Given the description of an element on the screen output the (x, y) to click on. 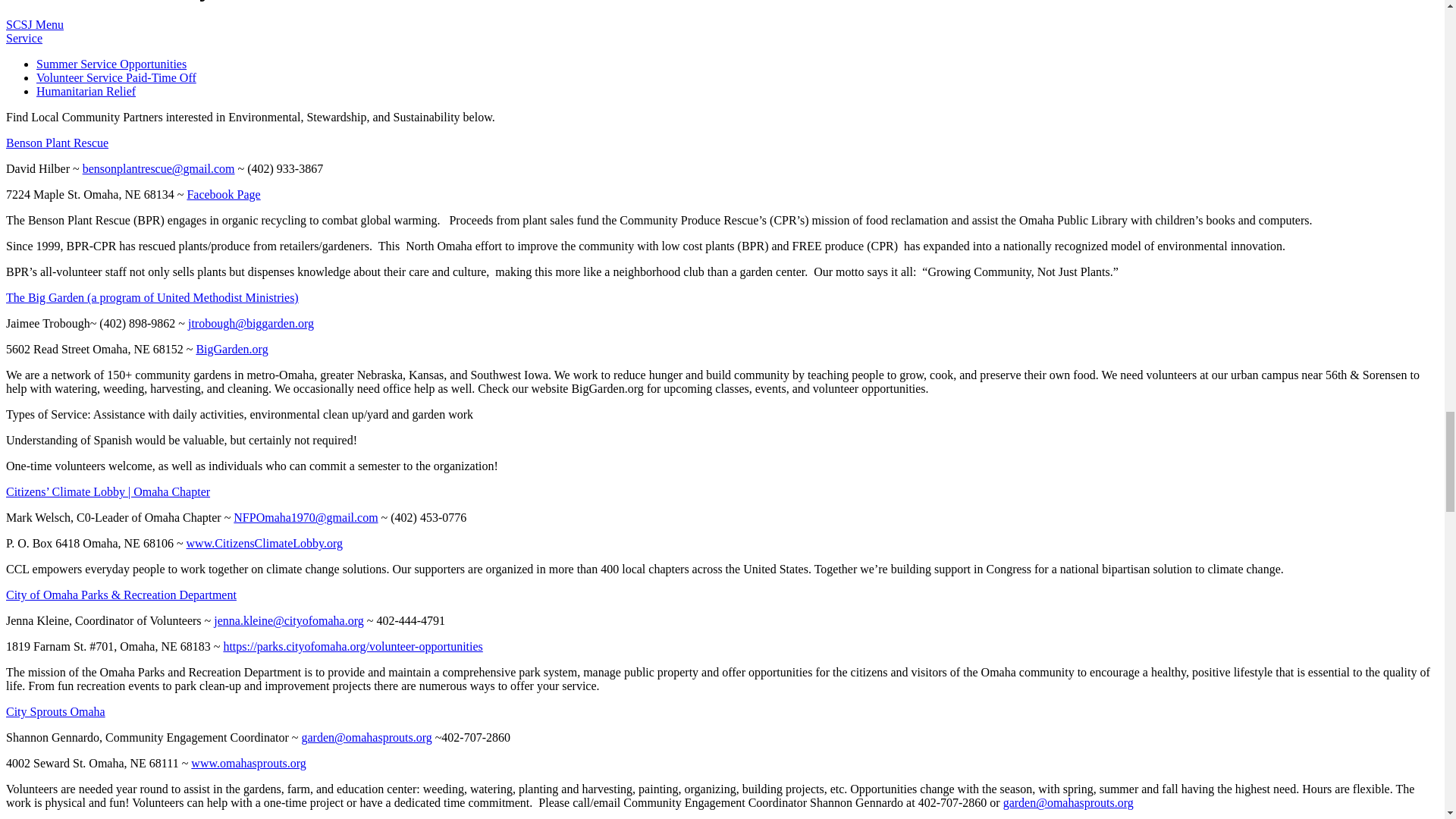
Volunteer Service Paid-Time Off (116, 77)
Humanitarian Relief (85, 91)
Summer Service Opportunities (111, 63)
